Given the description of an element on the screen output the (x, y) to click on. 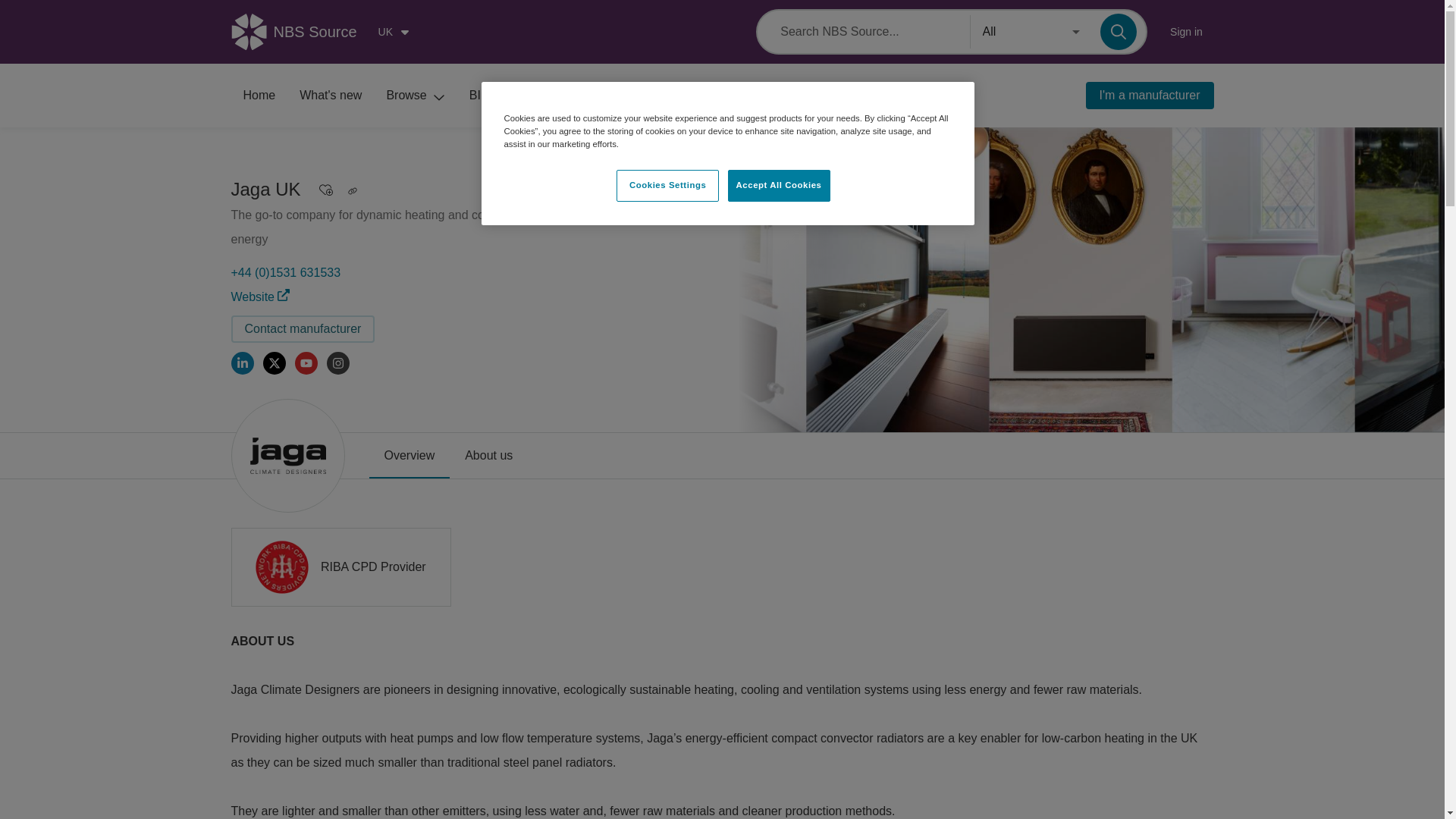
Browse (415, 95)
BIM Library (509, 95)
I'm a manufacturer (1150, 94)
Browse what's new (330, 95)
What's new (330, 95)
NBS Source (299, 31)
Overview (408, 455)
Home (258, 95)
Browse inspiration (602, 95)
RIBA CPD Provider (339, 566)
